Given the description of an element on the screen output the (x, y) to click on. 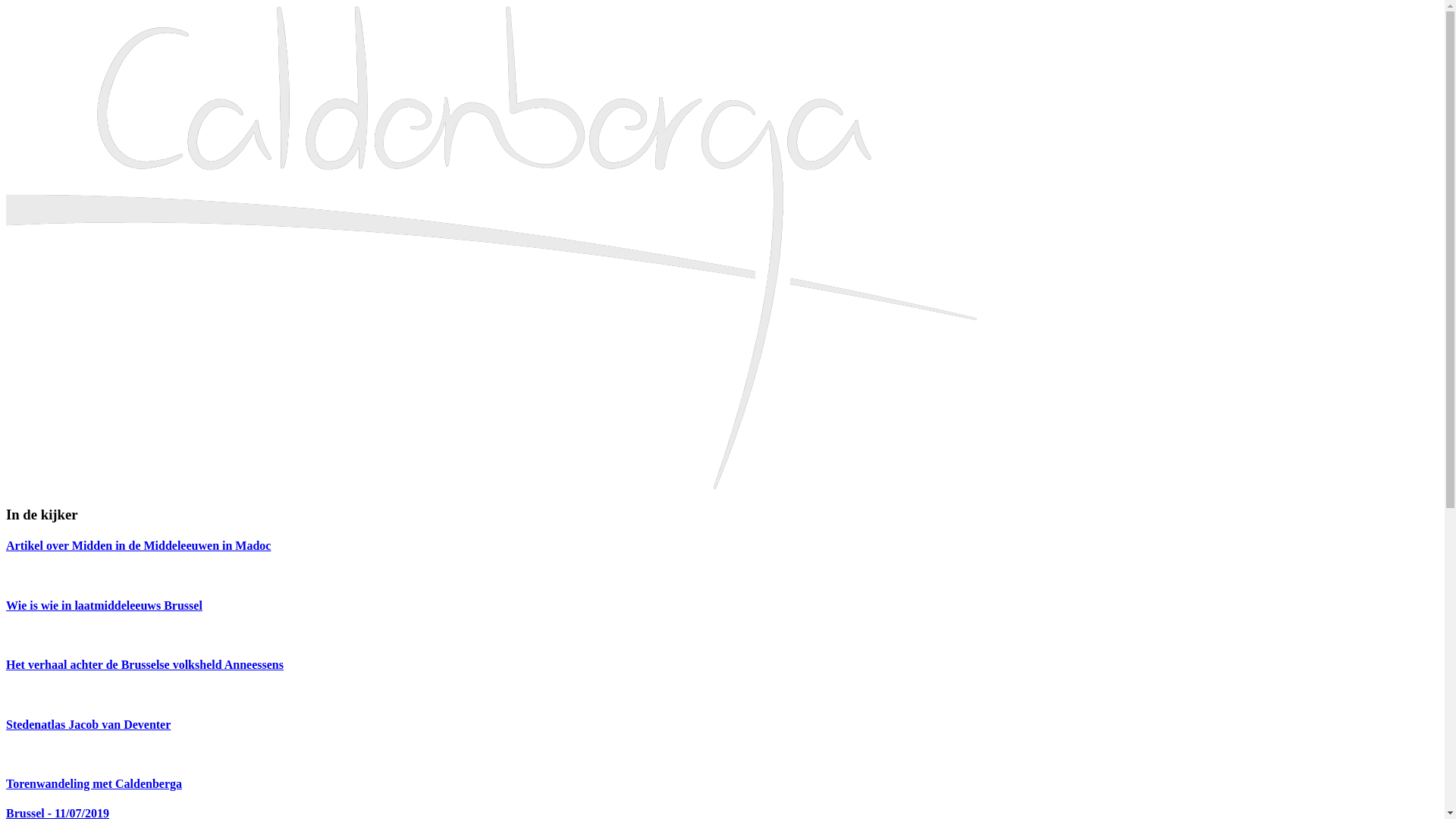
Artikel over Midden in de Middeleeuwen in Madoc Element type: text (722, 560)
Stedenatlas Jacob van Deventer Element type: text (722, 739)
Het verhaal achter de Brusselse volksheld Anneessens Element type: text (722, 679)
Wie is wie in laatmiddeleeuws Brussel Element type: text (722, 620)
